Given the description of an element on the screen output the (x, y) to click on. 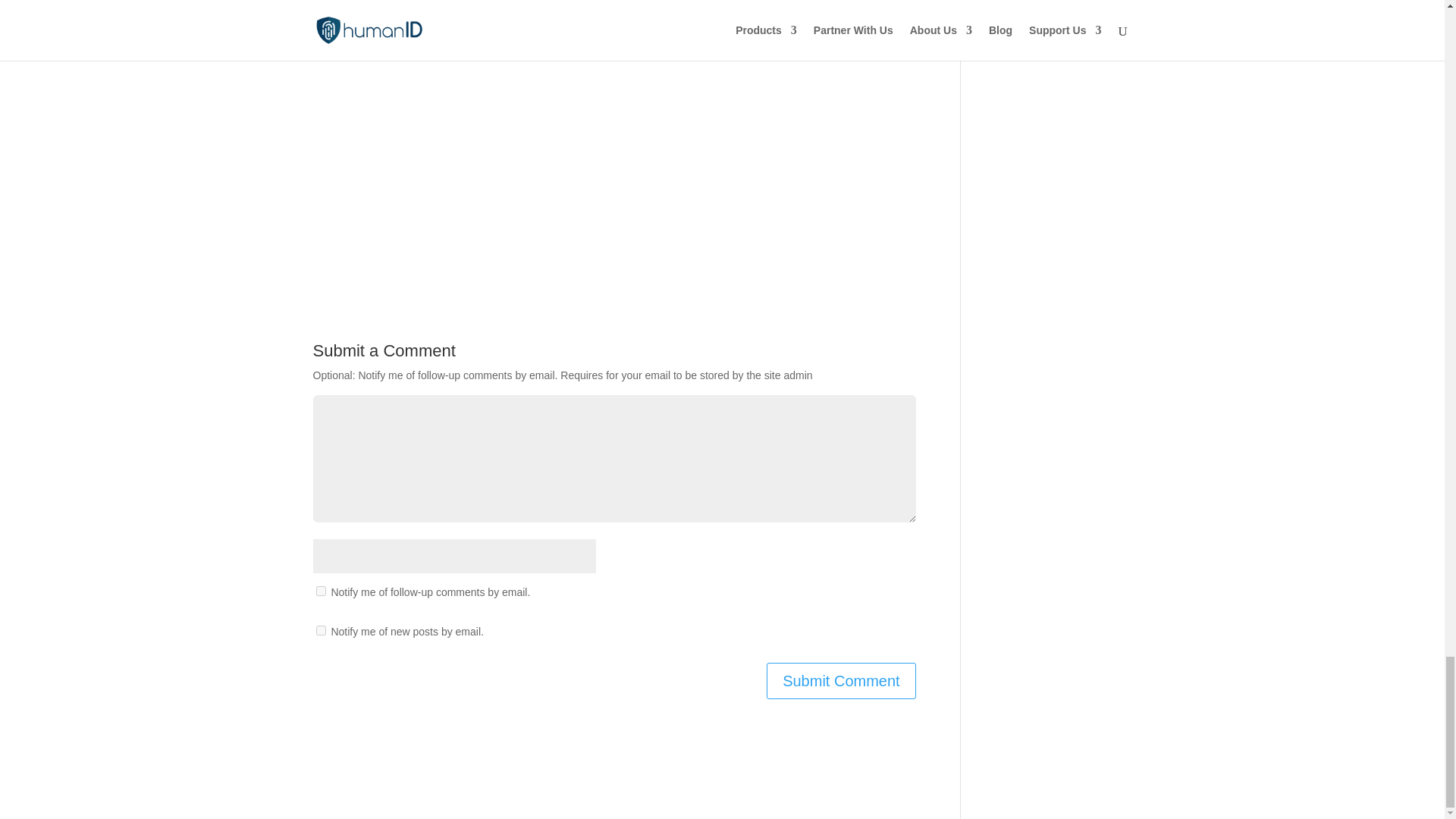
subscribe (319, 591)
subscribe (319, 630)
Picture4 (613, 105)
Submit Comment (841, 680)
